Given the description of an element on the screen output the (x, y) to click on. 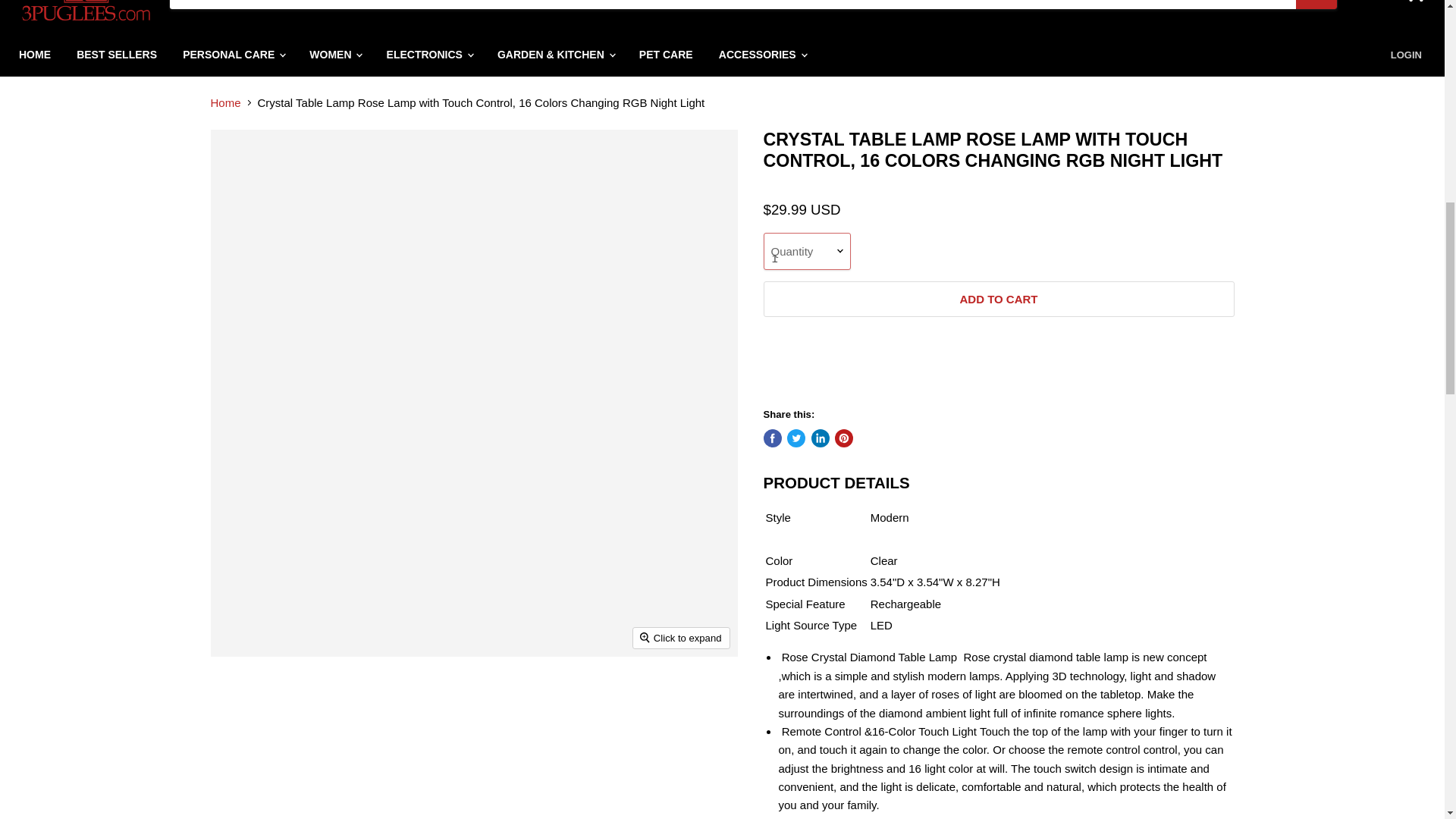
ELECTRONICS (429, 54)
ACCESSORIES (761, 54)
LOGIN (1406, 54)
WOMEN (334, 54)
BEST SELLERS (116, 54)
HOME (34, 54)
View cart (1414, 4)
PET CARE (665, 54)
PERSONAL CARE (233, 54)
